Given the description of an element on the screen output the (x, y) to click on. 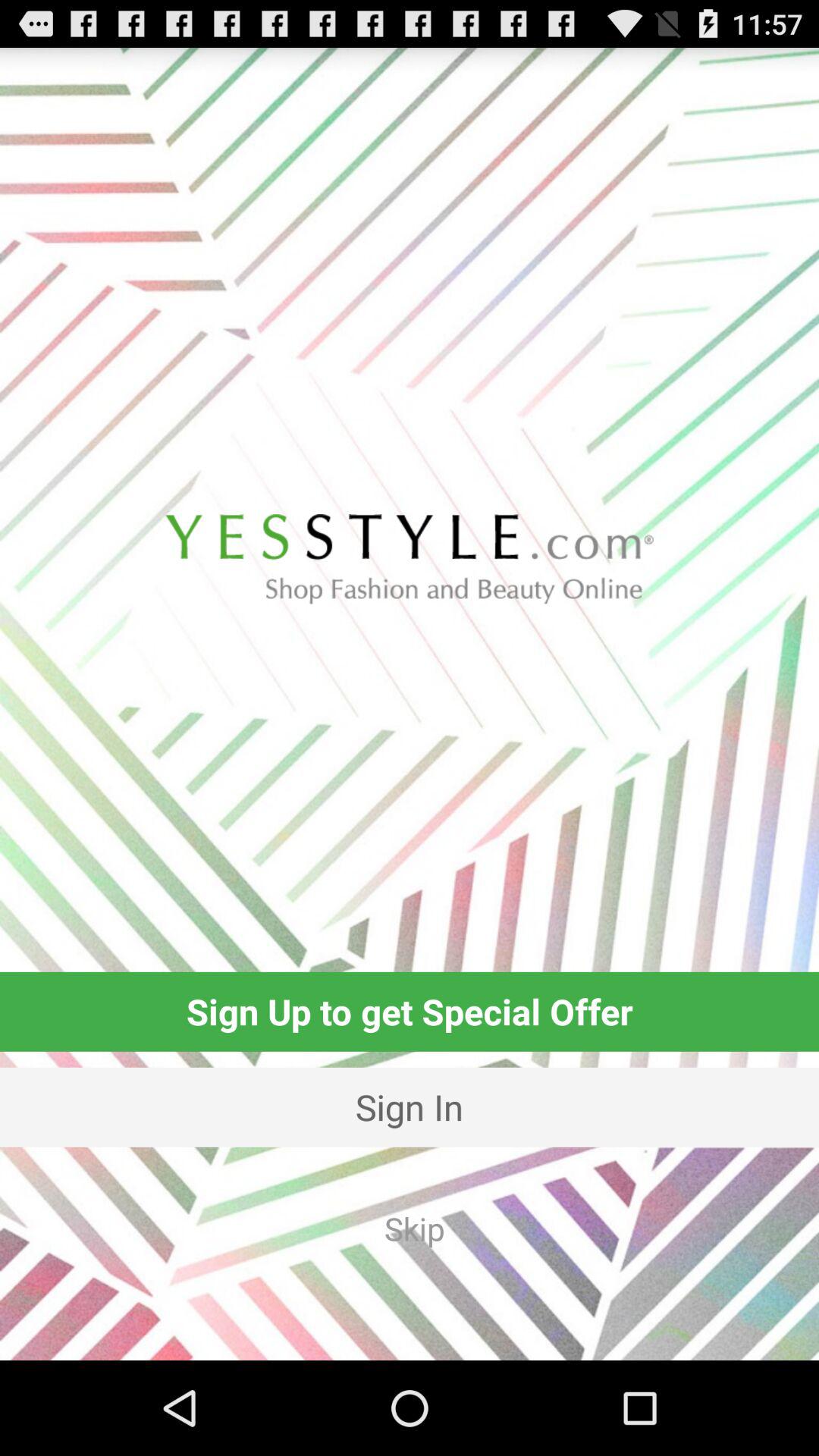
click the icon above the skip app (409, 1107)
